Given the description of an element on the screen output the (x, y) to click on. 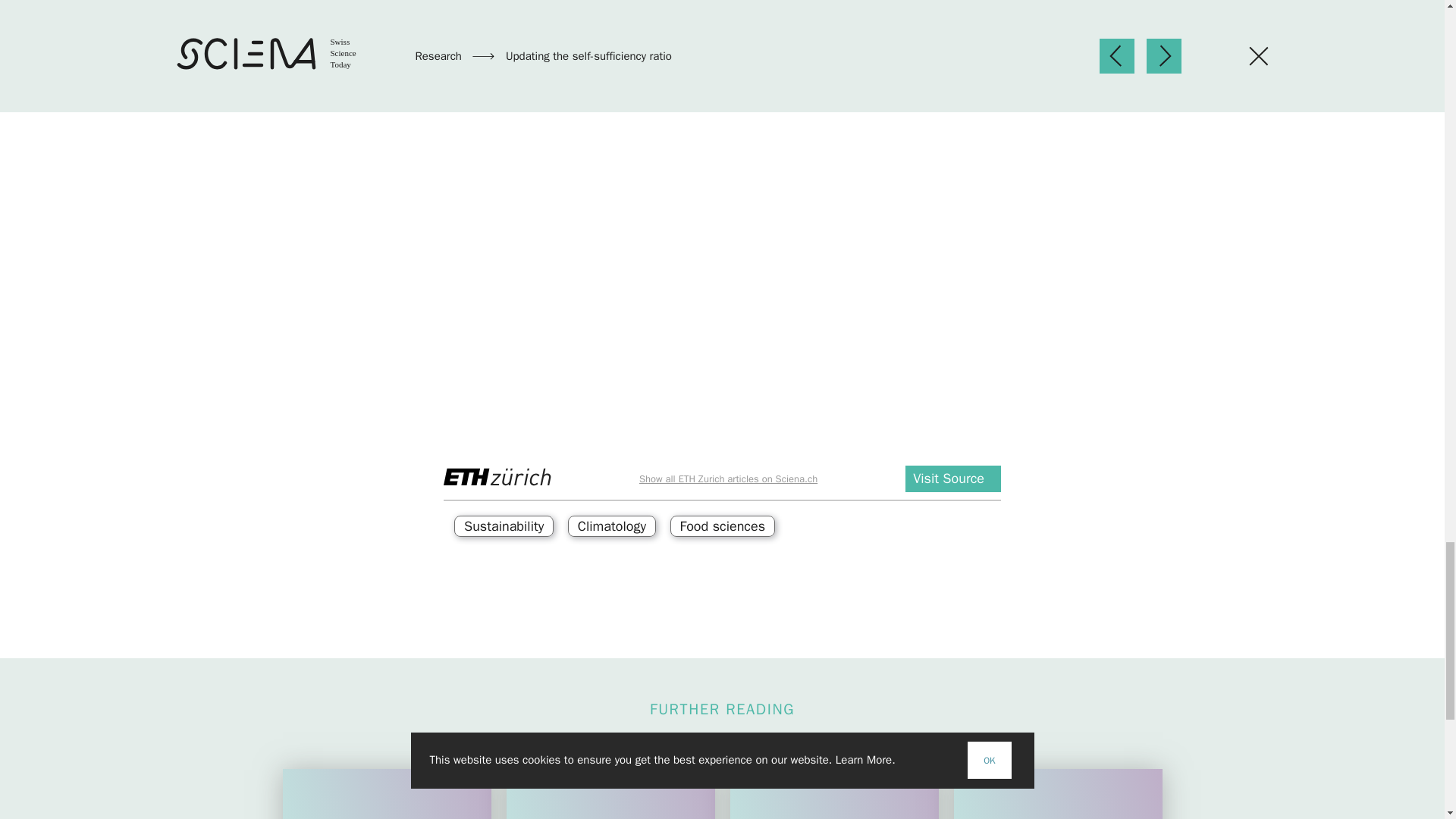
Sustainability (503, 526)
Show all ETH Zurich articles on Sciena.ch (728, 478)
ETH Zurich (497, 476)
Climatology (611, 526)
Food sciences (722, 526)
Visit Source (953, 479)
